Given the description of an element on the screen output the (x, y) to click on. 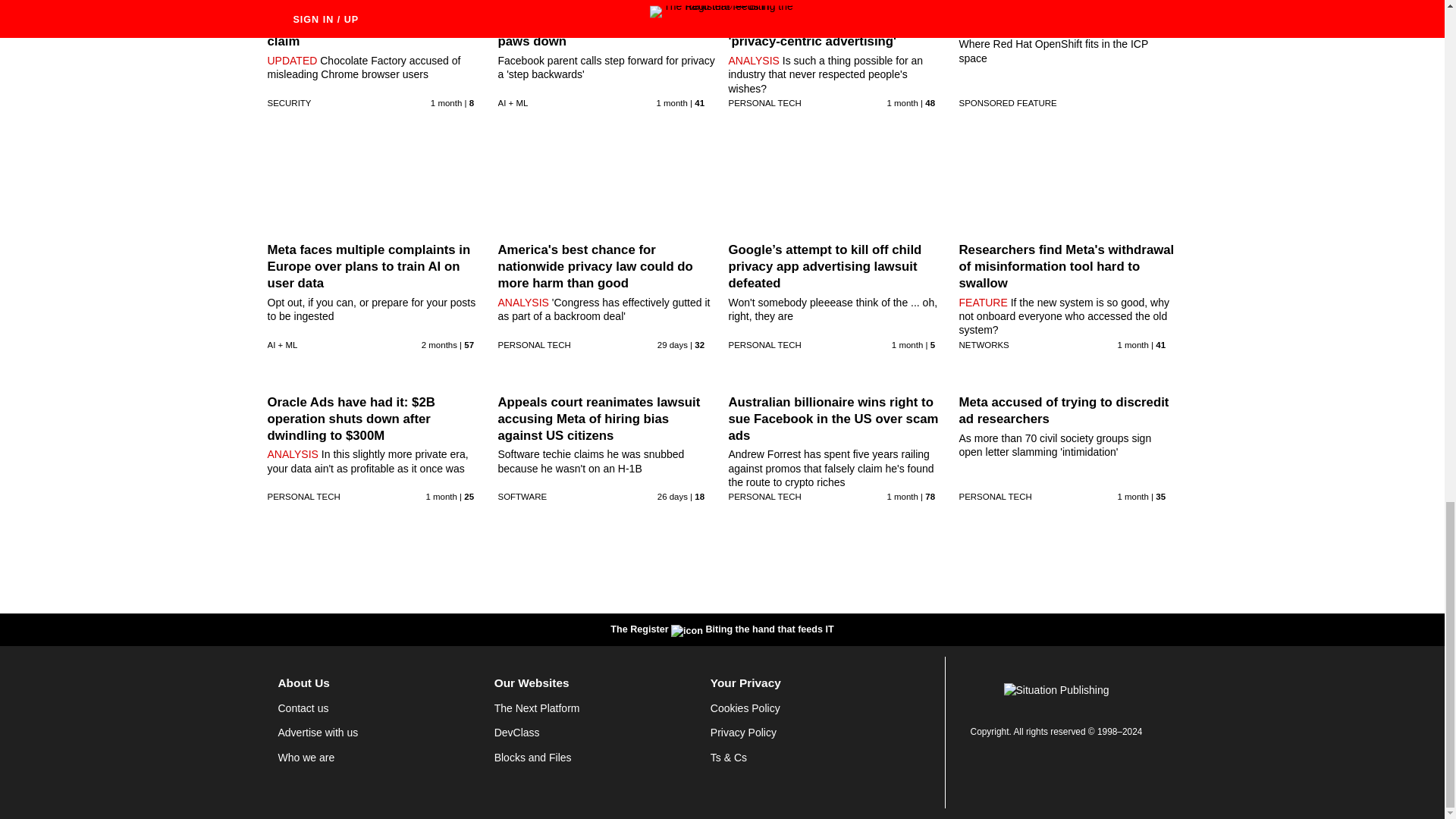
13 Jun 2024 13:30 (445, 102)
6 Jun 2024 15:45 (439, 344)
18 Jun 2024 14:2 (1132, 344)
27 Jun 2024 21:5 (672, 496)
14 Jun 2024 20:46 (671, 102)
25 Jun 2024 0:2 (672, 344)
18 Jun 2024 19:32 (901, 102)
13 Jun 2024 19:55 (441, 496)
20 Jun 2024 23:5 (907, 344)
